Given the description of an element on the screen output the (x, y) to click on. 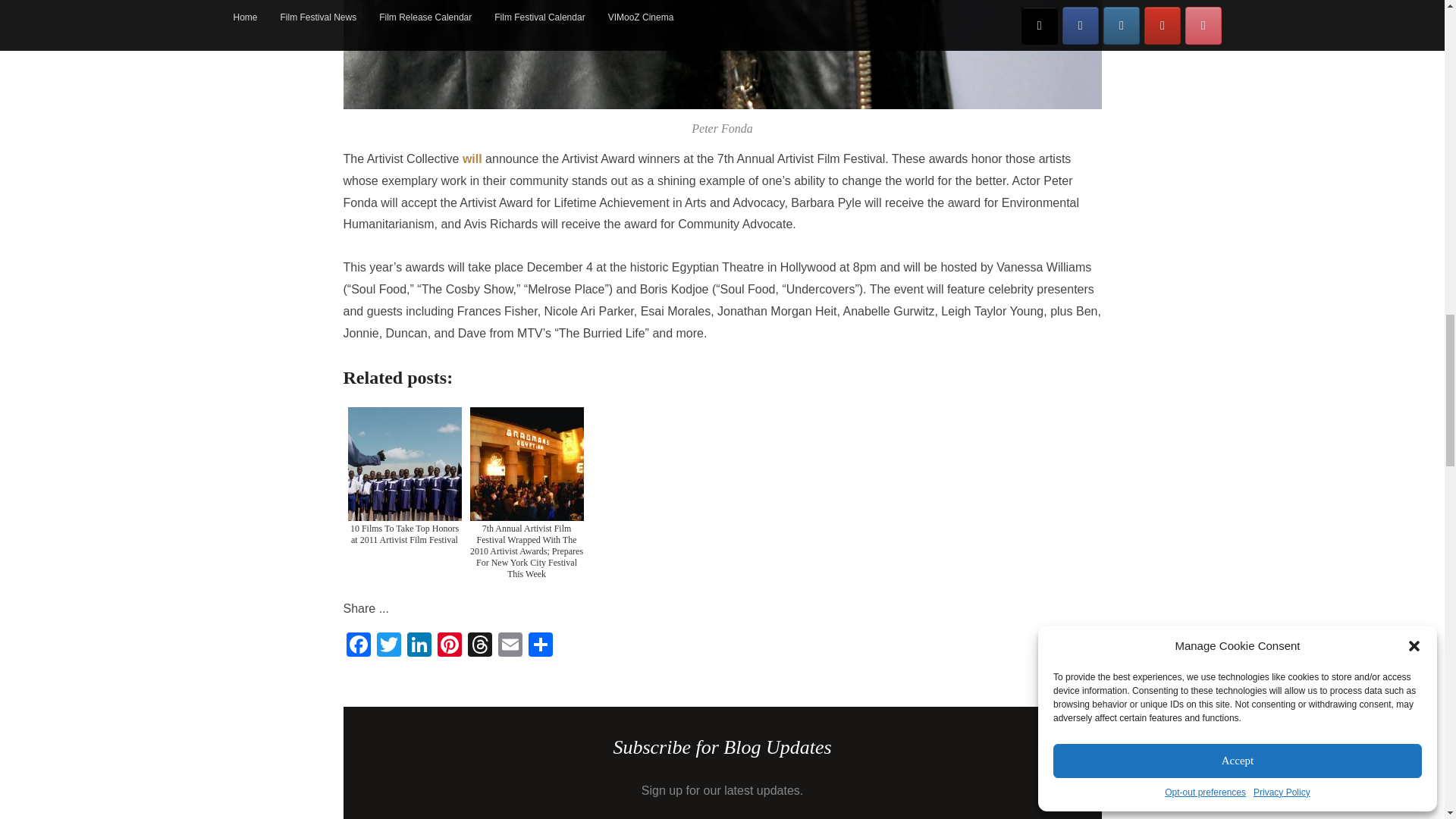
Facebook (357, 646)
Twitter (387, 646)
Pinterest (448, 646)
LinkedIn (418, 646)
Peter Fonda (721, 54)
